Given the description of an element on the screen output the (x, y) to click on. 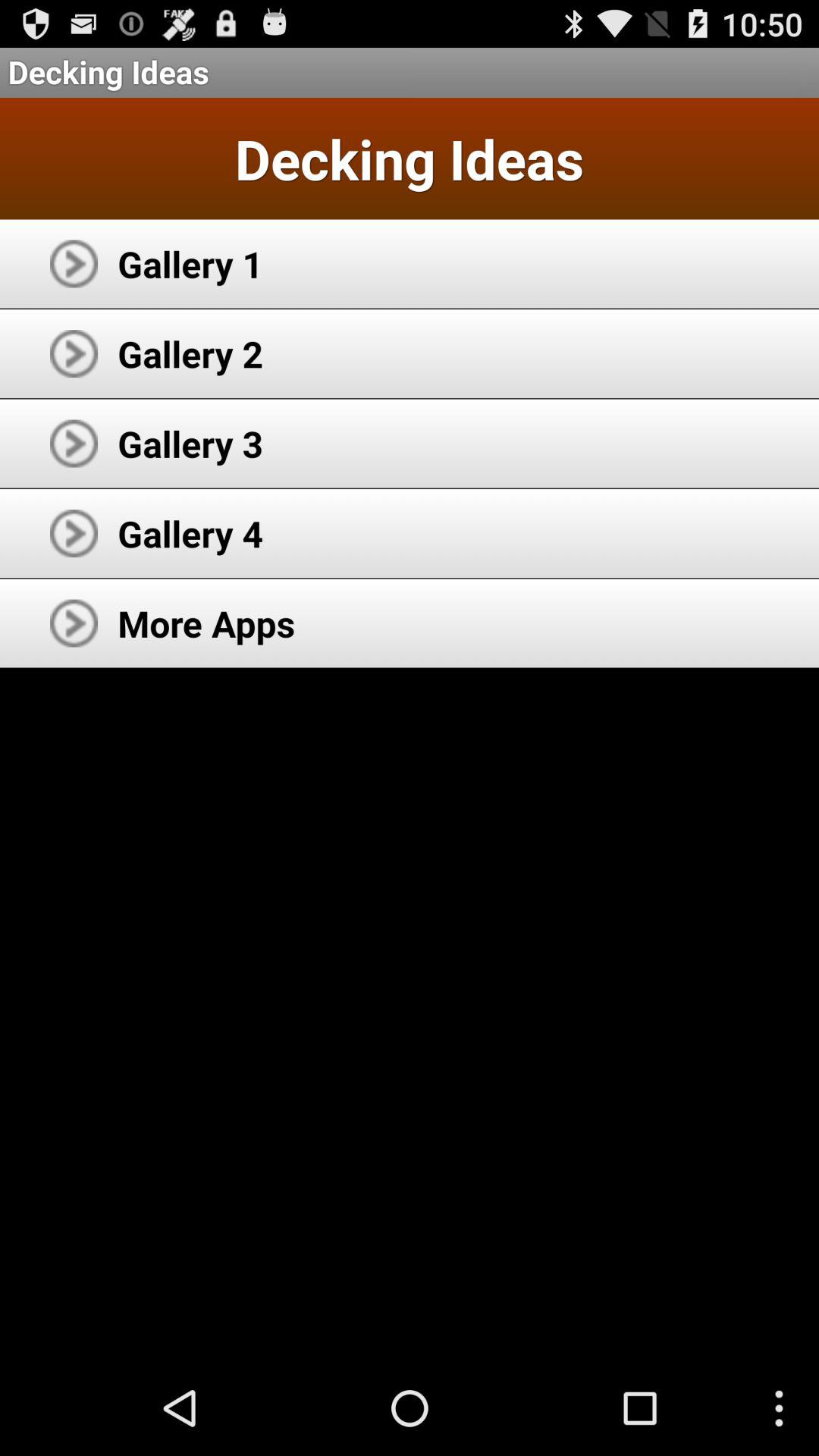
swipe to gallery 2 (190, 353)
